Given the description of an element on the screen output the (x, y) to click on. 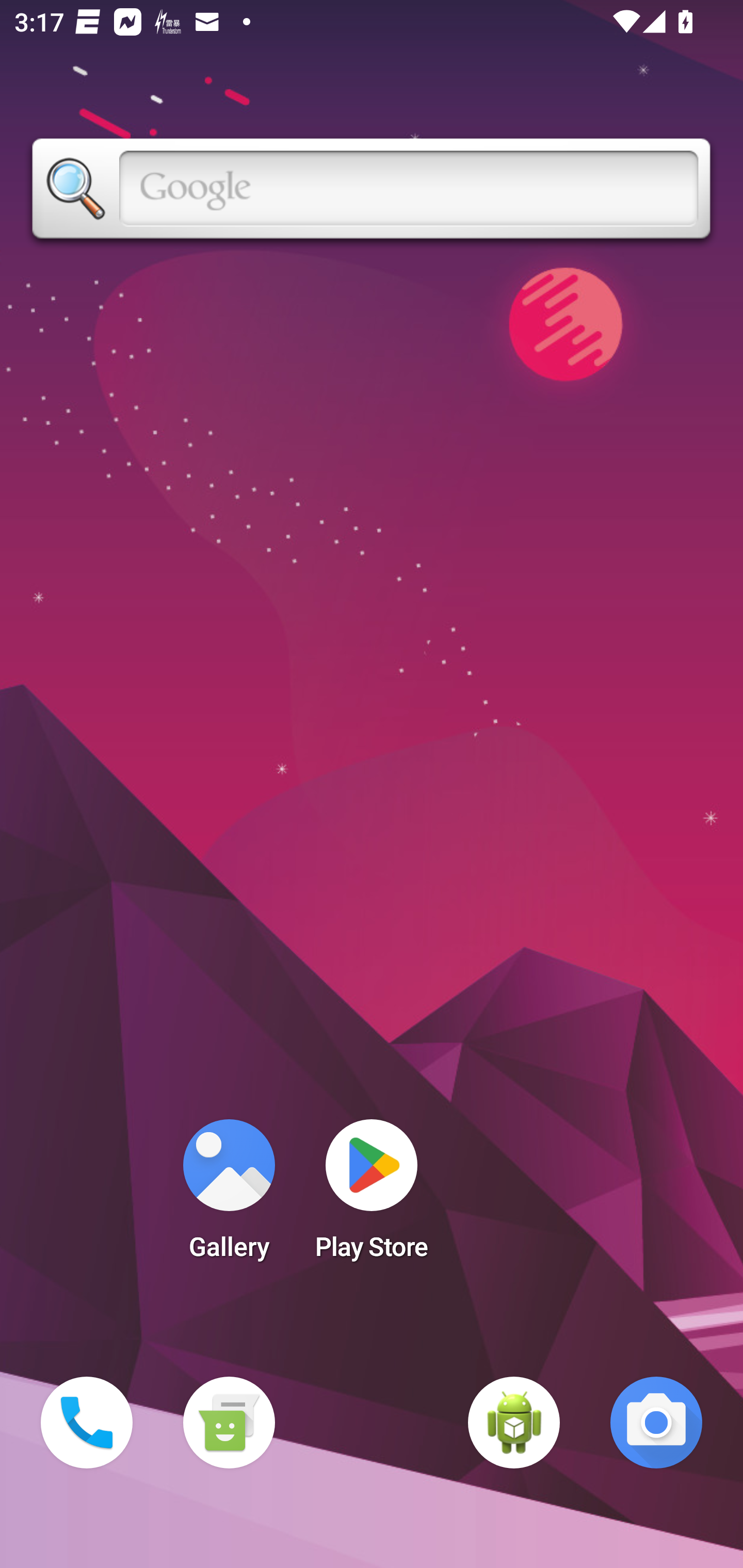
Gallery (228, 1195)
Play Store (371, 1195)
Phone (86, 1422)
Messaging (228, 1422)
WebView Browser Tester (513, 1422)
Camera (656, 1422)
